Given the description of an element on the screen output the (x, y) to click on. 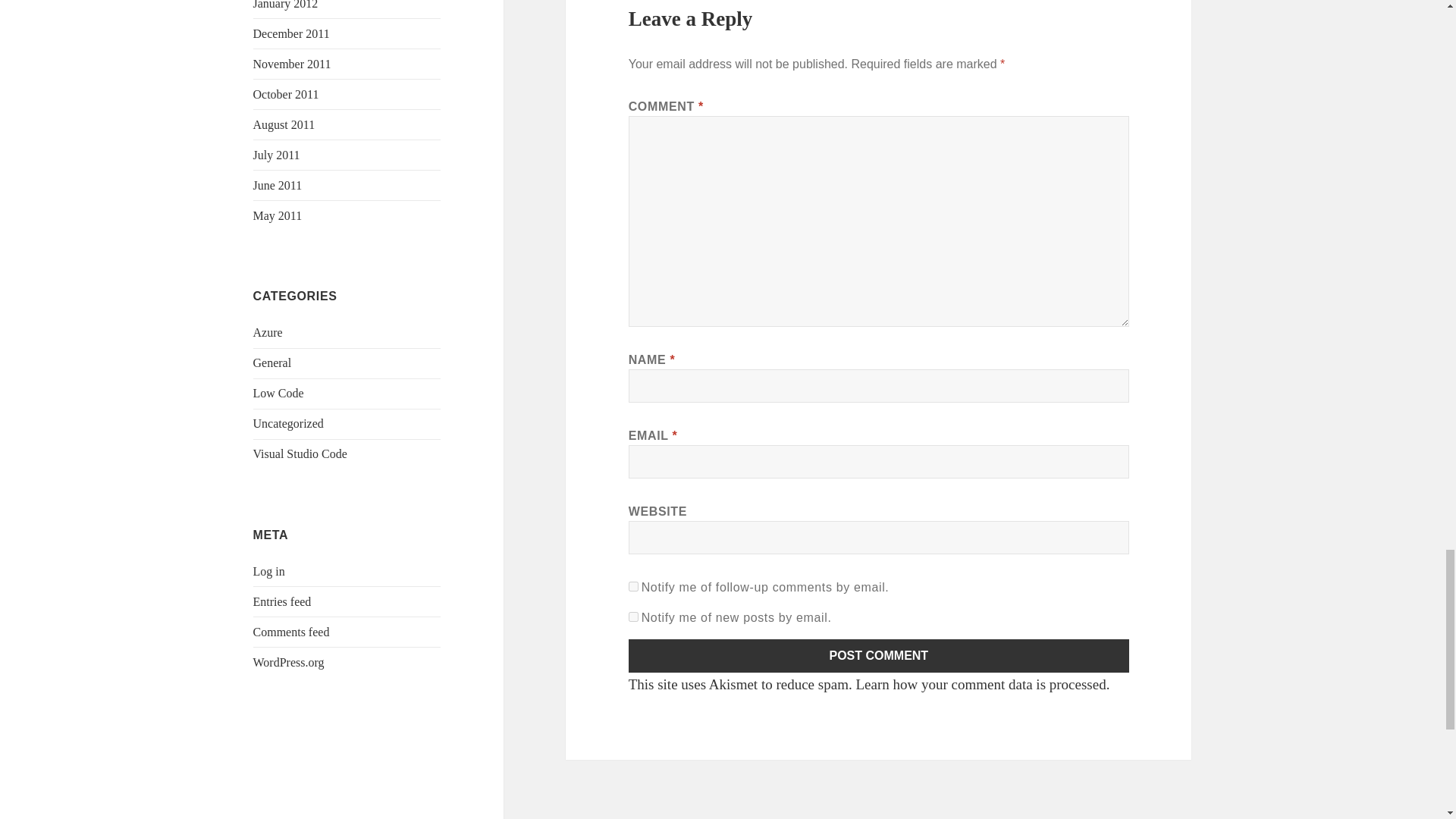
subscribe (633, 614)
subscribe (633, 644)
Post Comment (878, 684)
